Given the description of an element on the screen output the (x, y) to click on. 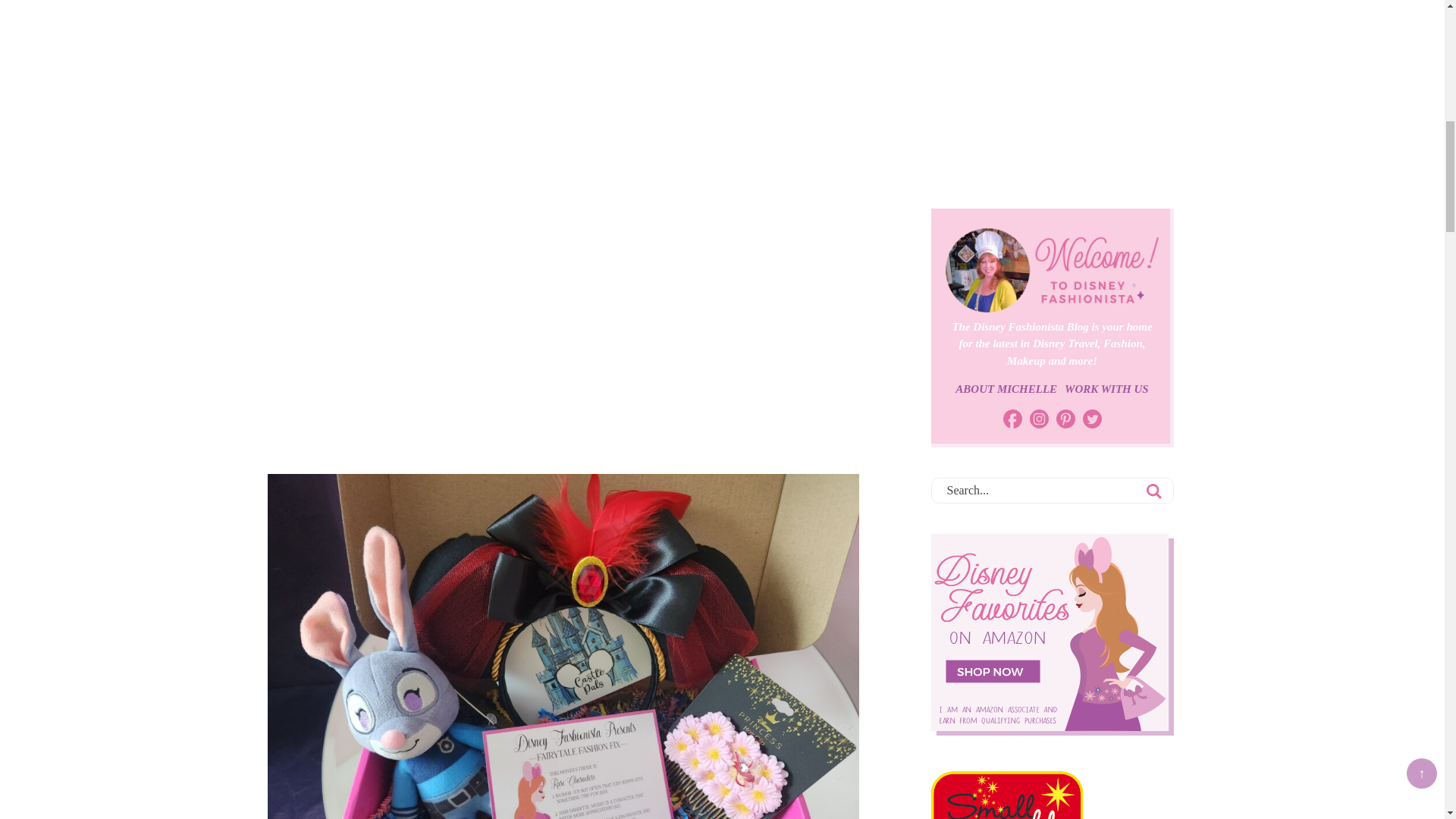
Search (1151, 490)
Search (1151, 490)
